Given the description of an element on the screen output the (x, y) to click on. 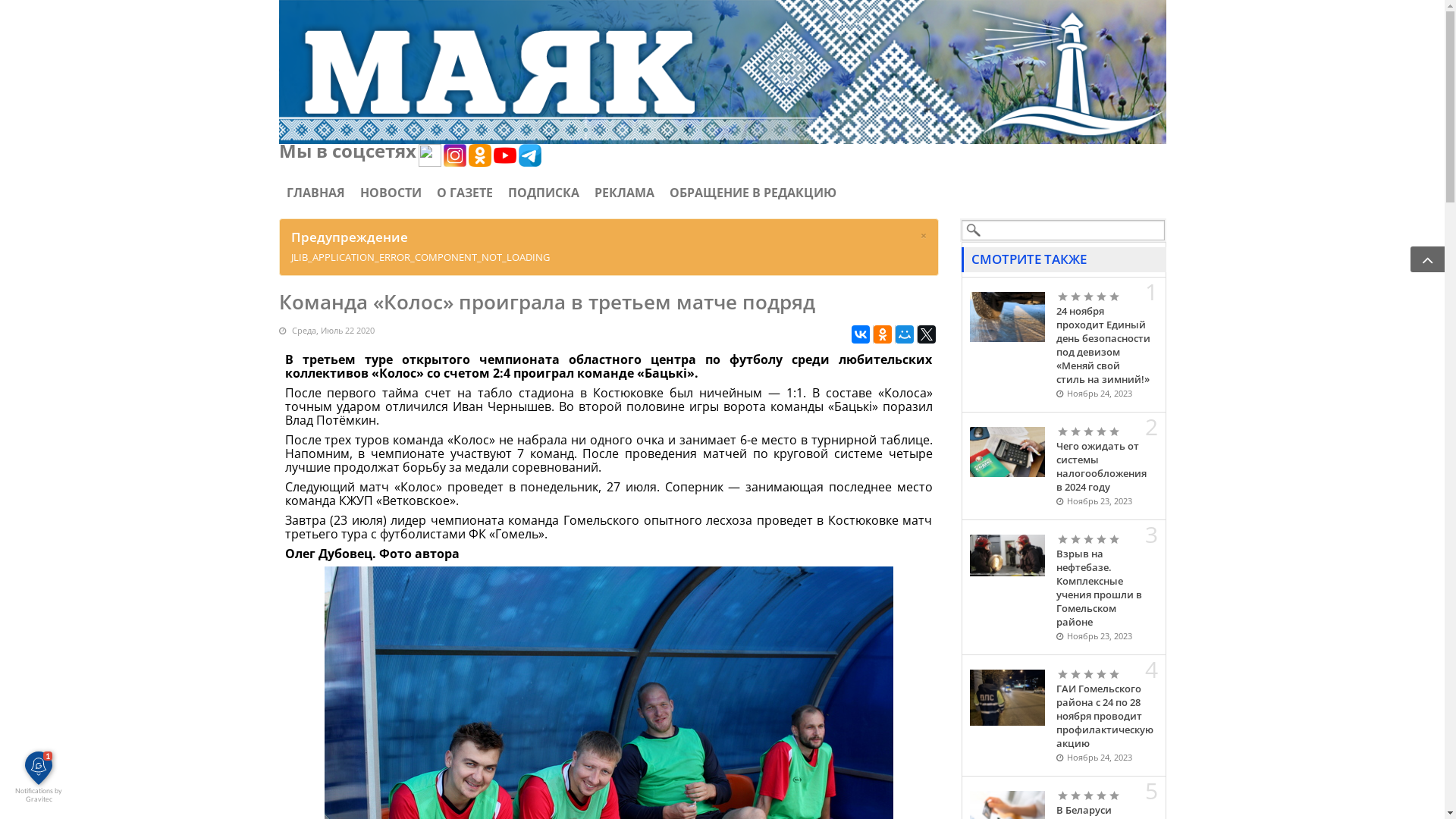
4 Element type: text (1081, 673)
4 Element type: text (1081, 538)
5 Element type: text (1088, 431)
4 Element type: text (1081, 296)
1 Element type: text (1062, 431)
5 Element type: text (1088, 673)
5 Element type: text (1088, 795)
5 Element type: text (1088, 296)
3 Element type: text (1075, 296)
1 Element type: text (1062, 296)
2 Element type: text (1069, 795)
2 Element type: text (1069, 538)
4 Element type: text (1081, 795)
1 Element type: text (1062, 795)
2 Element type: text (1069, 296)
5 Element type: text (1088, 538)
1 Element type: text (1062, 673)
3 Element type: text (1075, 538)
1 Element type: text (1062, 538)
2 Element type: text (1069, 431)
Twitter Element type: hover (926, 334)
3 Element type: text (1075, 673)
3 Element type: text (1075, 431)
2 Element type: text (1069, 673)
3 Element type: text (1075, 795)
4 Element type: text (1081, 431)
